Given the description of an element on the screen output the (x, y) to click on. 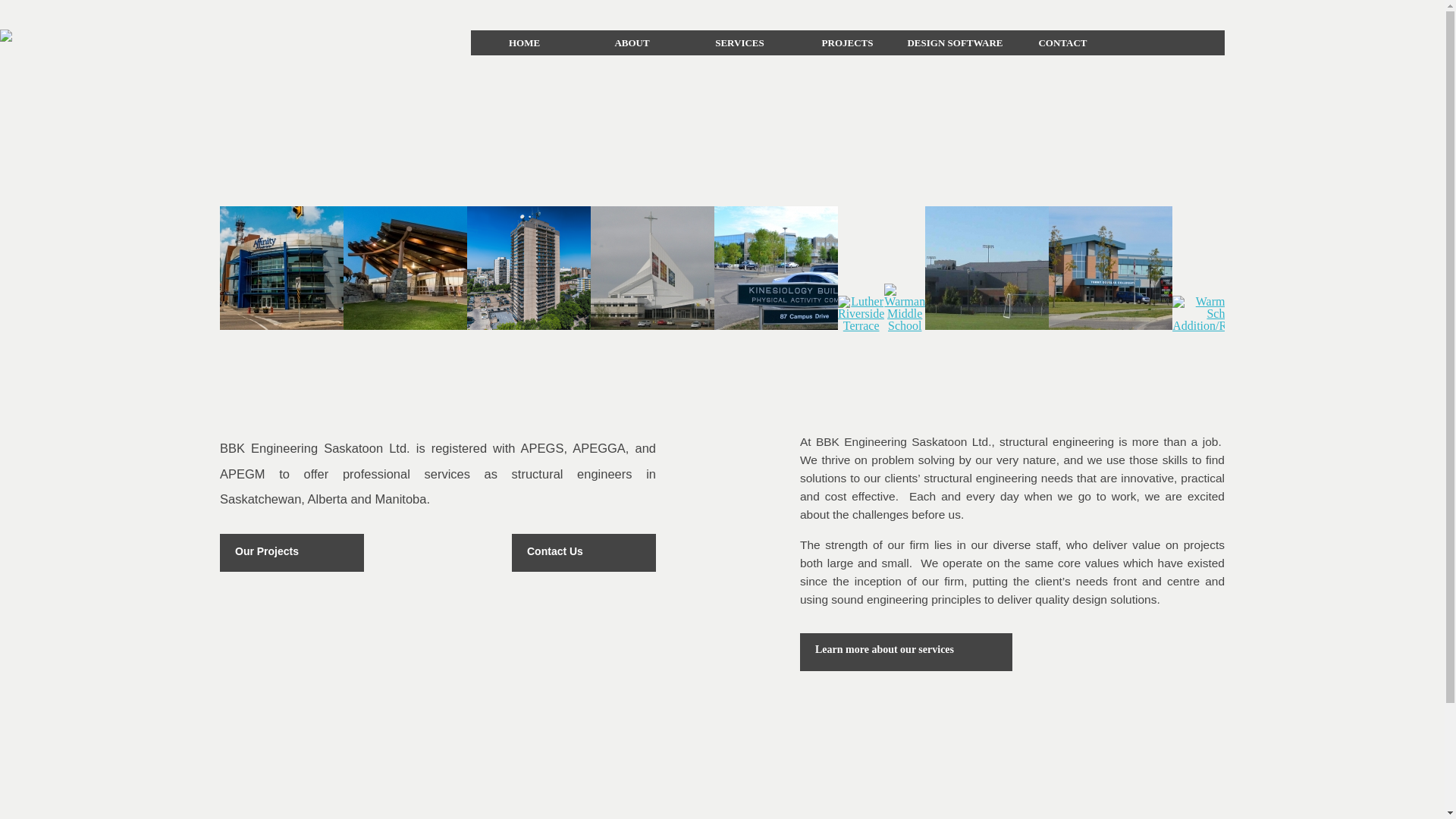
Learn more about our services Element type: text (906, 652)
  Element type: text (1181, 42)
  Element type: text (1157, 42)
PROJECTS Element type: text (846, 42)
  Element type: text (1132, 42)
DESIGN SOFTWARE Element type: text (954, 42)
CONTACT Element type: text (1062, 42)
HOME Element type: text (523, 42)
Our Projects Element type: text (291, 552)
SERVICES Element type: text (739, 42)
  Element type: text (1206, 42)
Contact Us Element type: text (583, 552)
ABOUT Element type: text (631, 42)
